Given the description of an element on the screen output the (x, y) to click on. 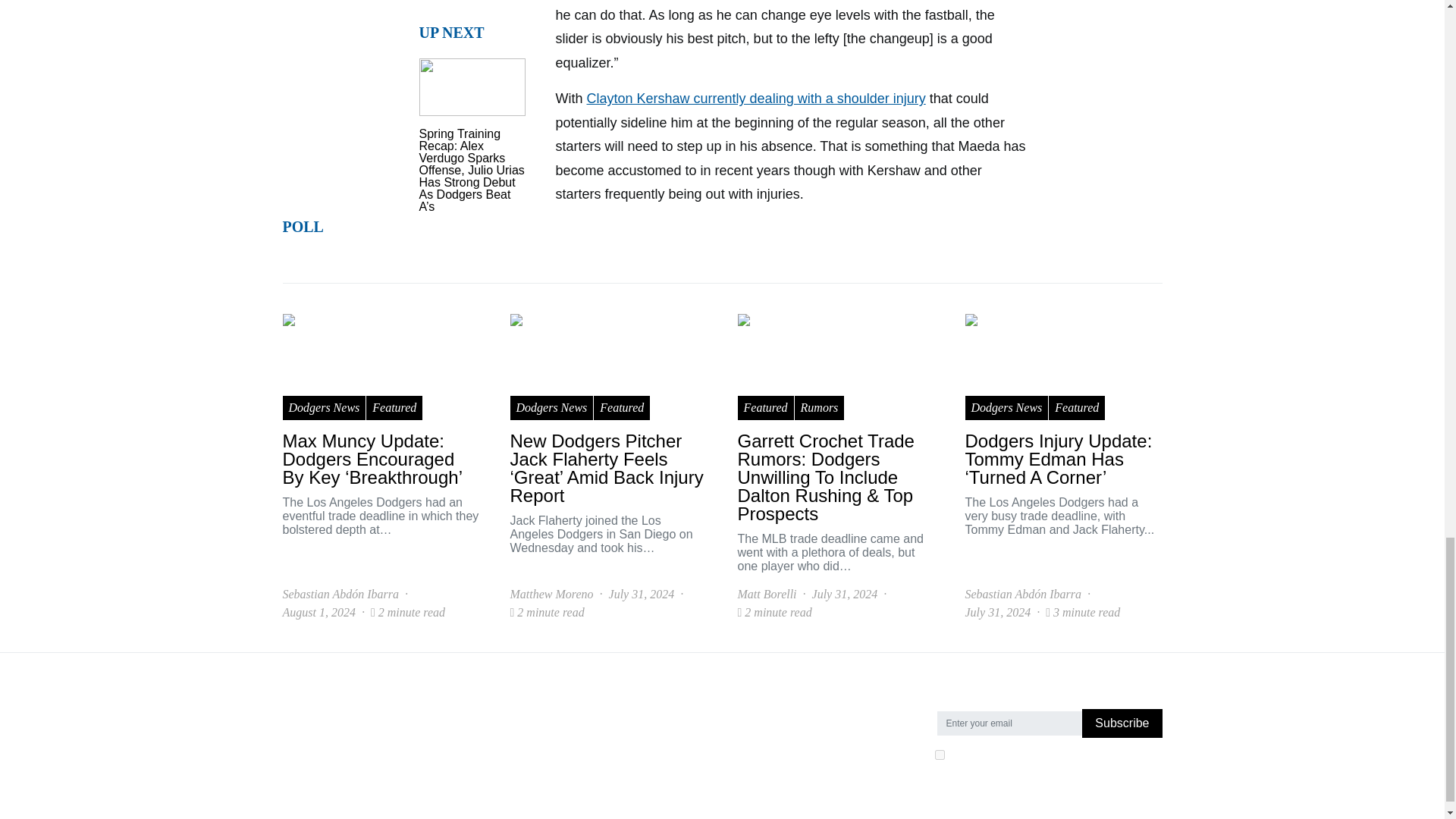
View all posts by Matthew Moreno (550, 594)
View all posts by Matt Borelli (766, 594)
on (938, 755)
